Given the description of an element on the screen output the (x, y) to click on. 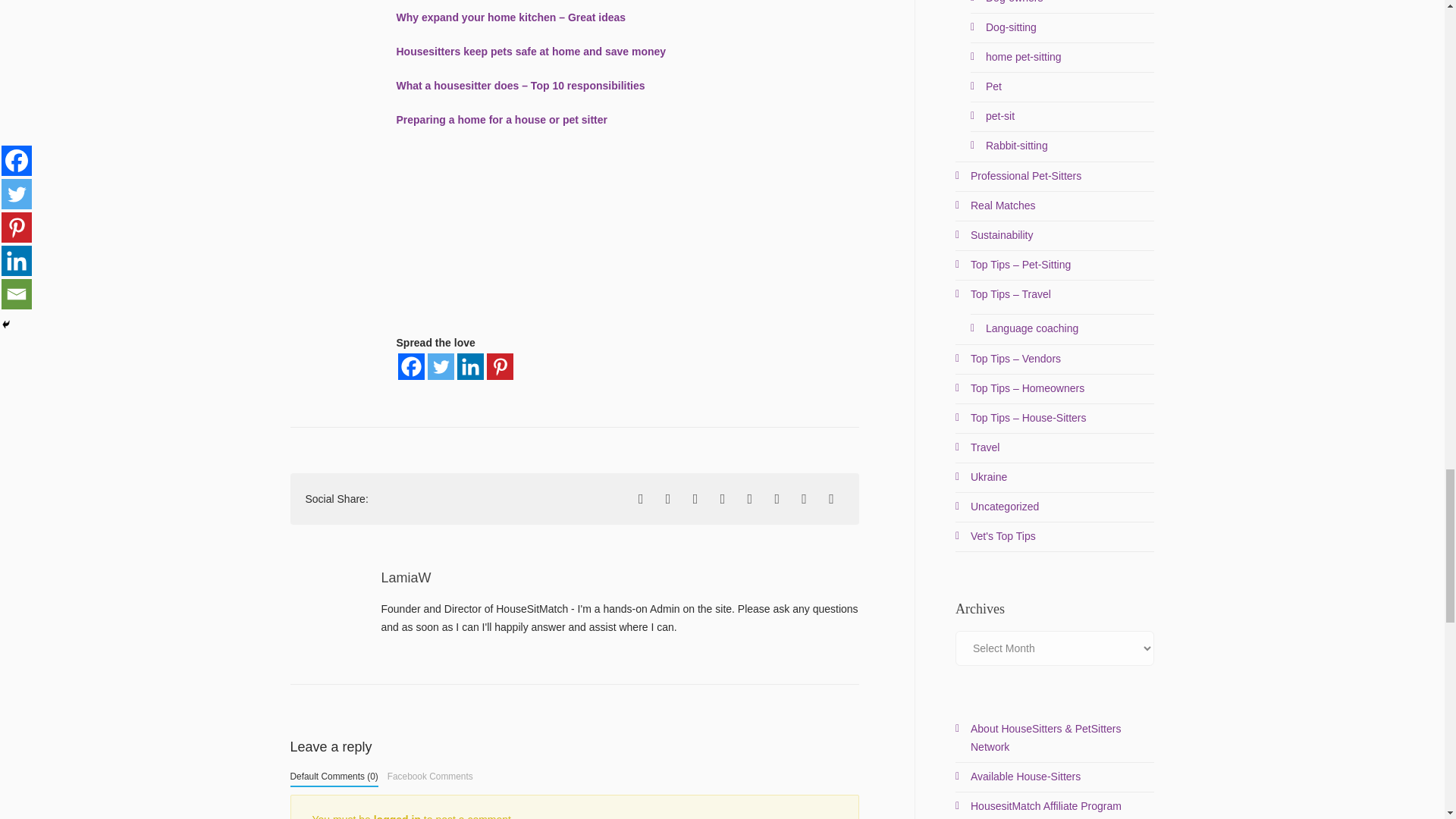
Twitter (441, 366)
Pinterest (499, 366)
Facebook (410, 366)
Linkedin (470, 366)
